Given the description of an element on the screen output the (x, y) to click on. 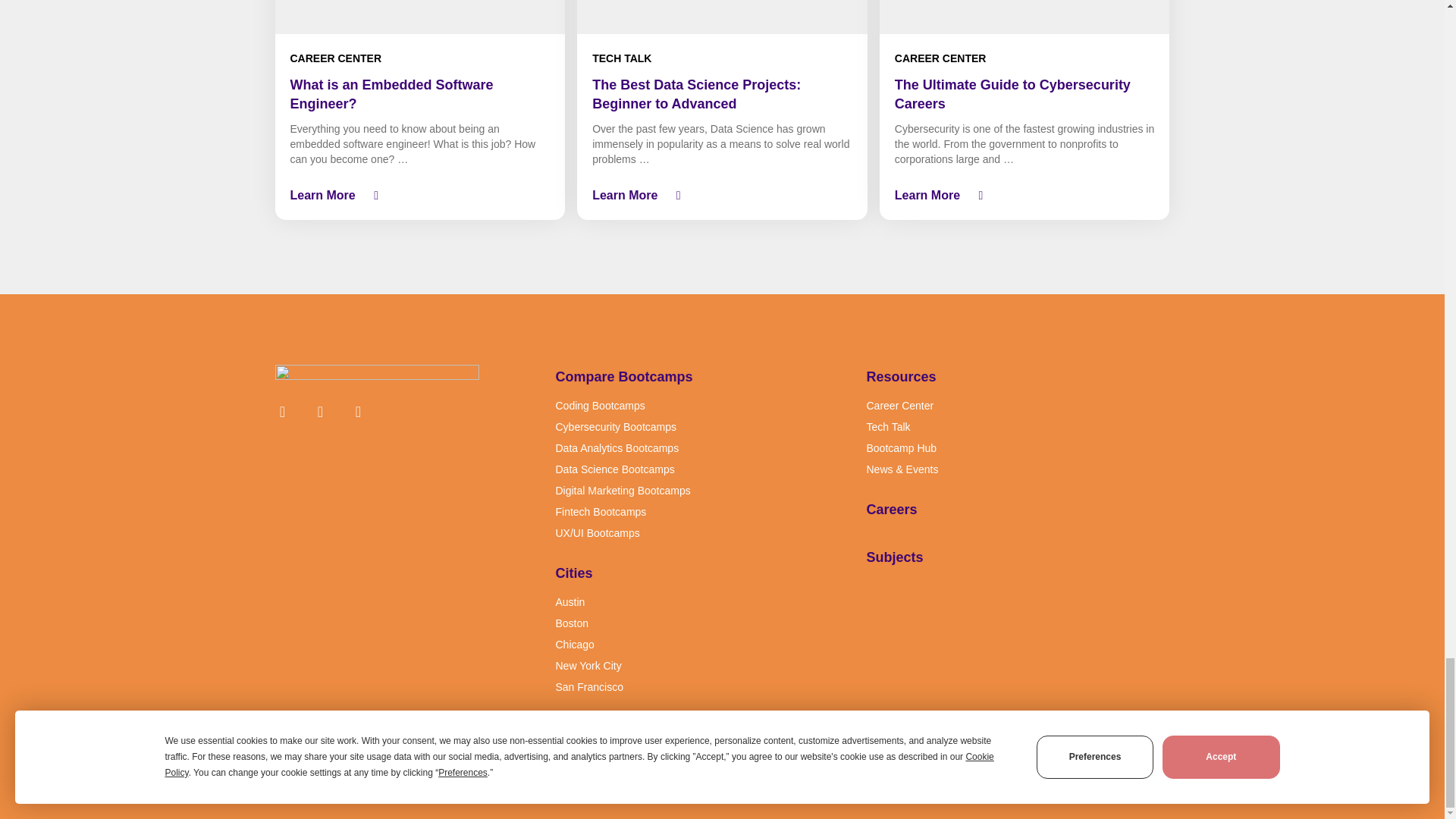
The Best Data Science Projects: Beginner to Advanced (696, 93)
CAREER CENTER (335, 58)
TECH TALK (621, 58)
Learn More (636, 194)
CAREER CENTER (941, 58)
What is an Embedded Software Engineer? (391, 93)
Learn More (333, 194)
